Given the description of an element on the screen output the (x, y) to click on. 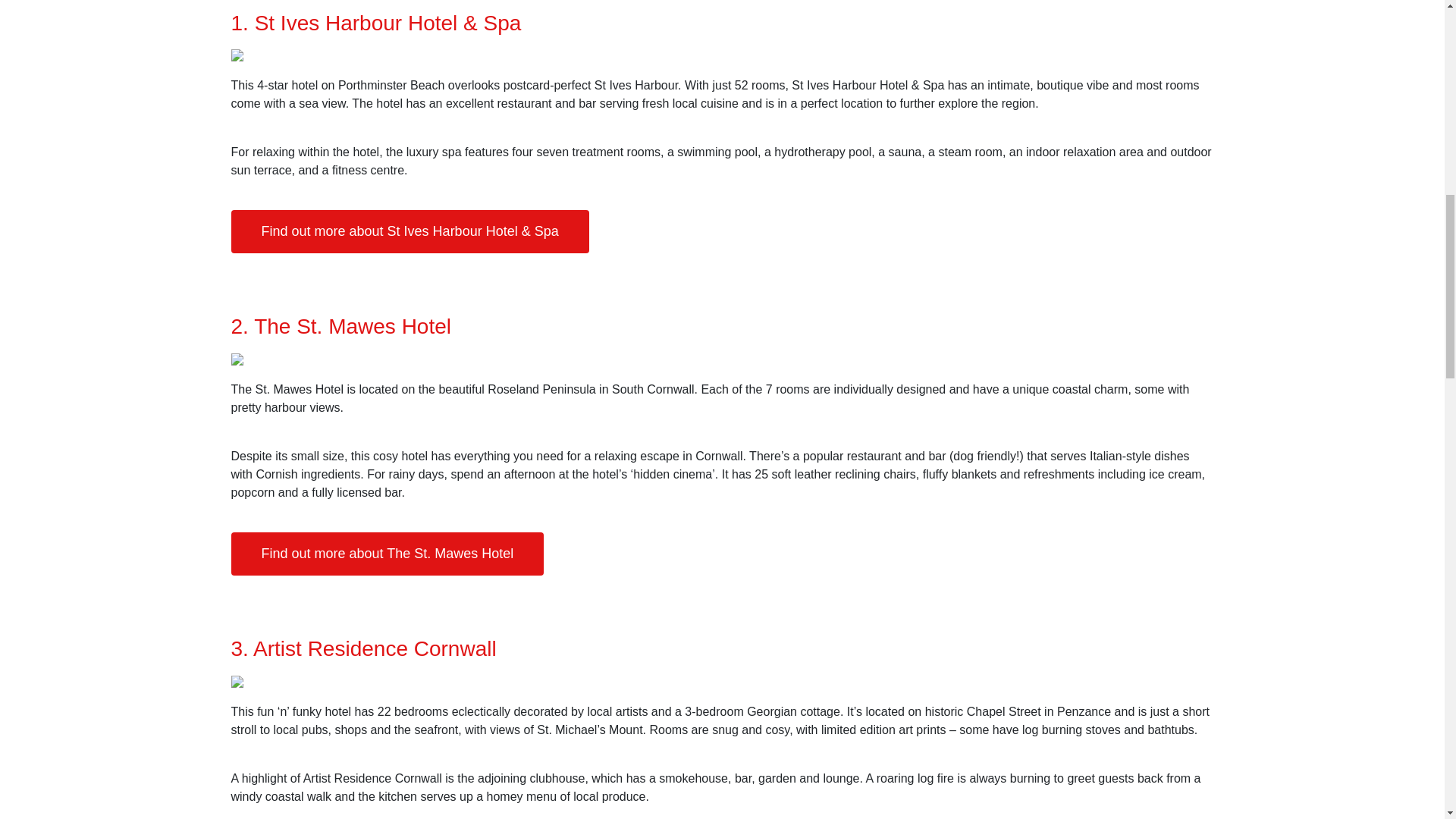
Find out more about The St. Mawes Hotel (386, 553)
3. Artist Residence Cornwall (363, 648)
2. The St. Mawes Hotel (340, 326)
